Given the description of an element on the screen output the (x, y) to click on. 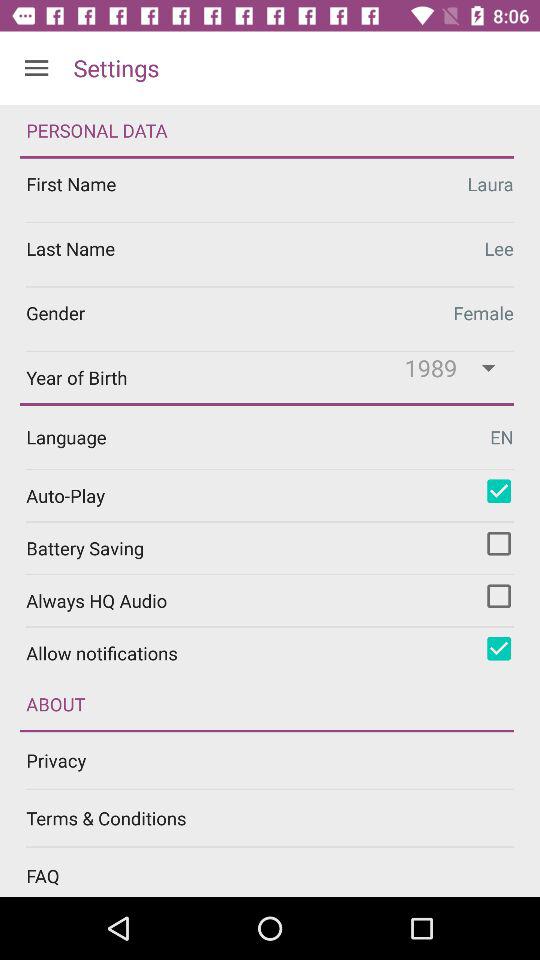
press the privacy item (283, 760)
